Given the description of an element on the screen output the (x, y) to click on. 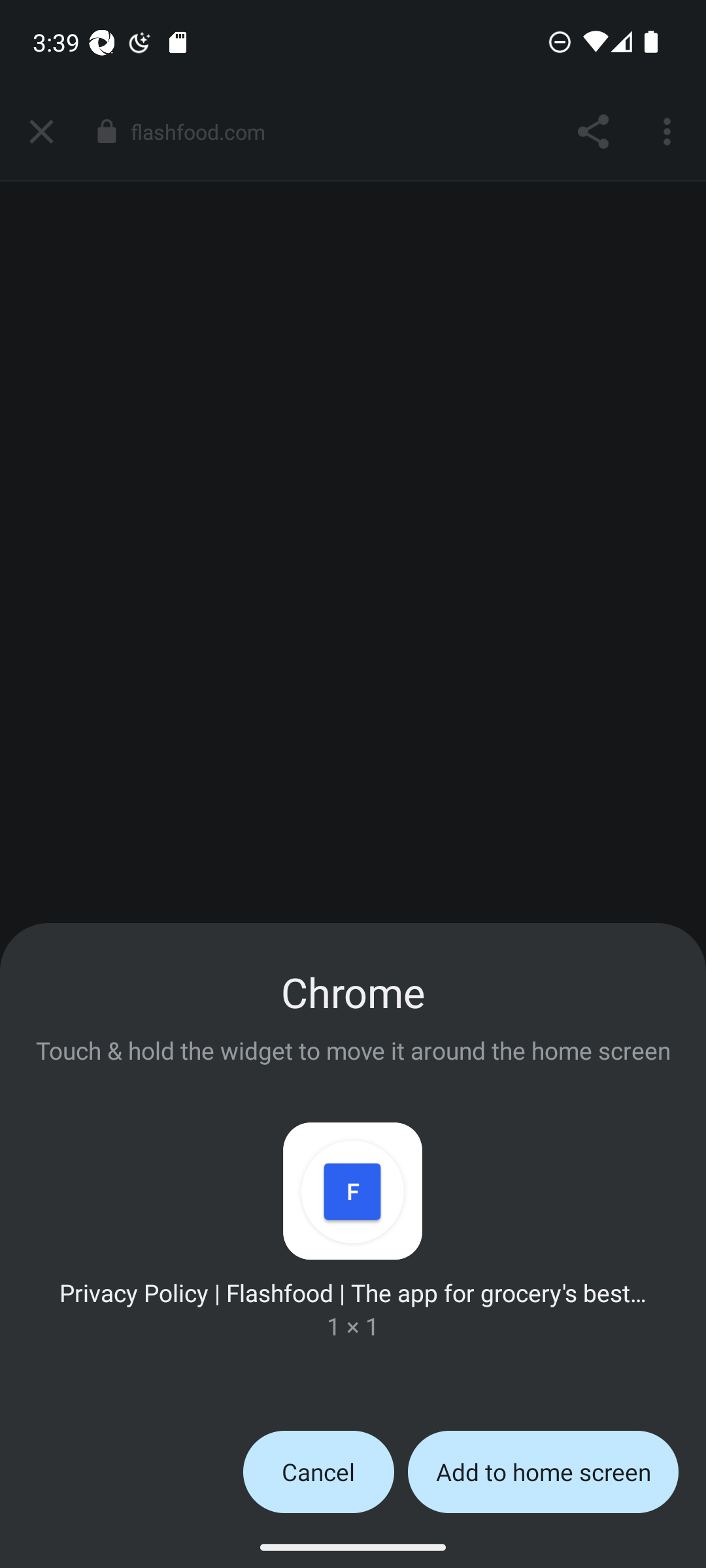
Cancel (317, 1471)
Add to home screen (543, 1471)
